Given the description of an element on the screen output the (x, y) to click on. 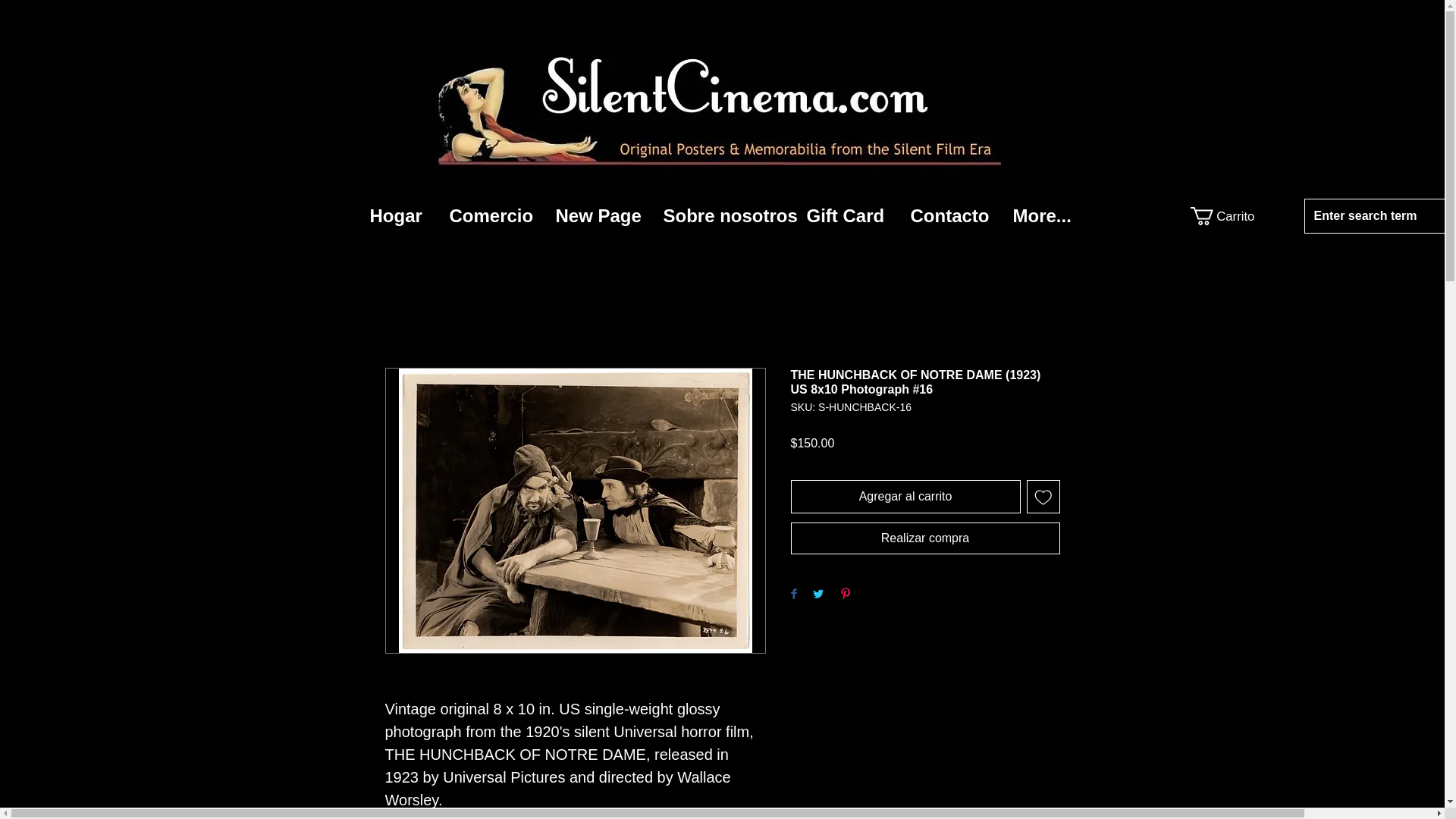
New Page (598, 215)
Contacto (950, 215)
Hogar (398, 215)
Sobre nosotros (723, 215)
Realizar compra (924, 538)
Carrito (1224, 216)
SilentCinema.com Logo (720, 110)
Comercio (491, 215)
Carrito (1224, 216)
Agregar al carrito (905, 496)
Gift Card (846, 215)
